Given the description of an element on the screen output the (x, y) to click on. 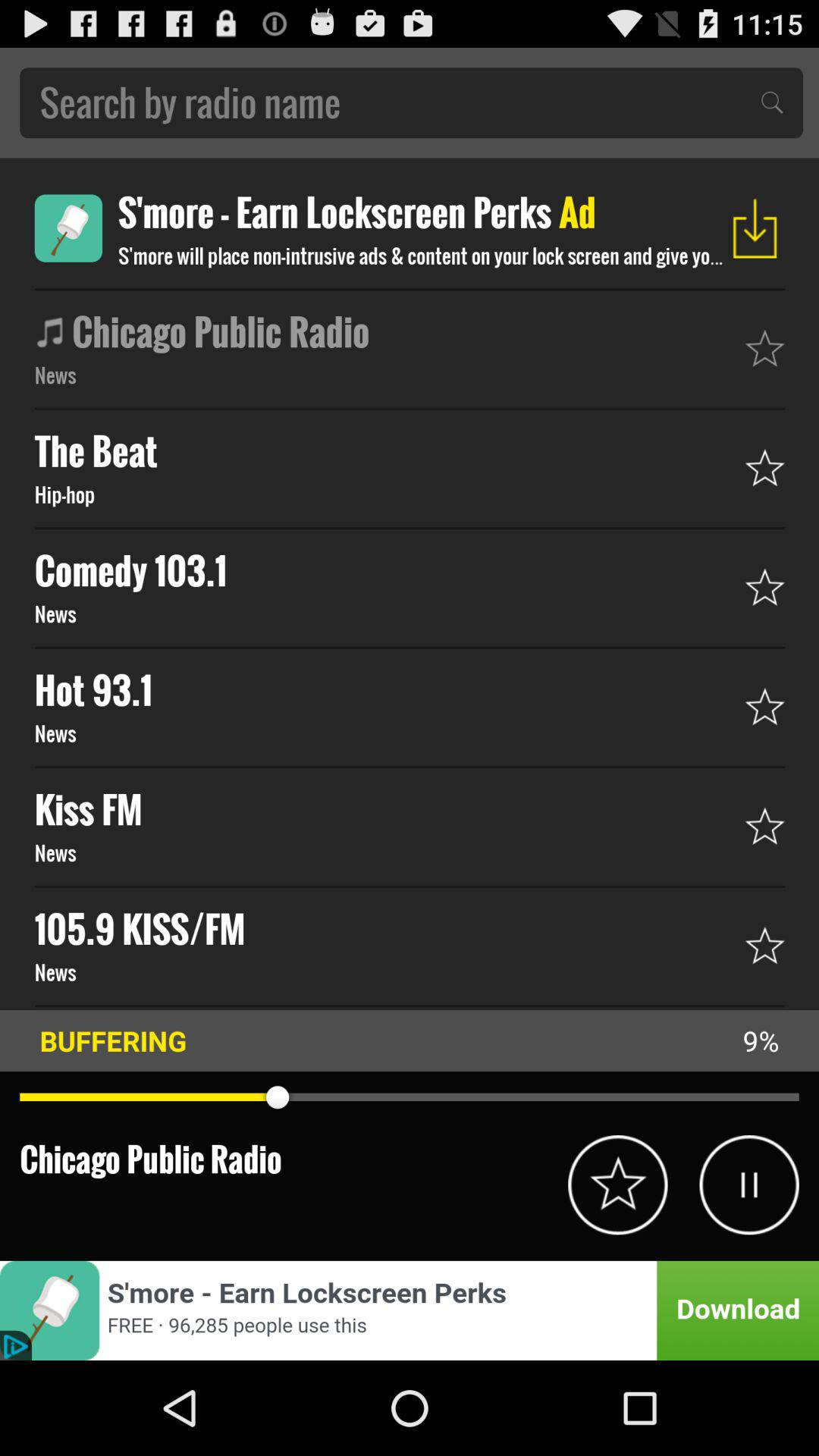
report your star ratings (617, 1184)
